Given the description of an element on the screen output the (x, y) to click on. 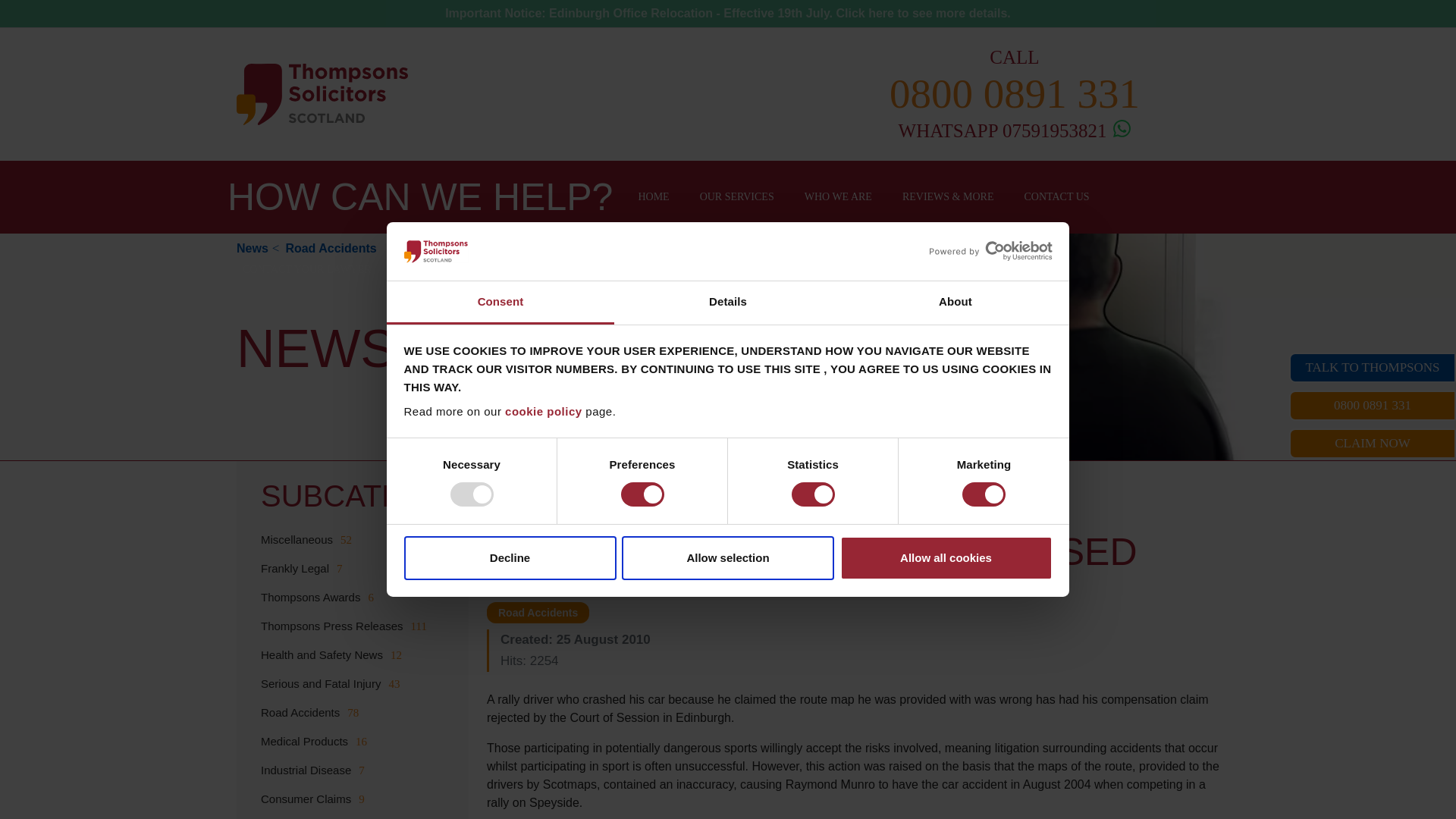
About (954, 302)
Details (727, 302)
cookie policy (543, 410)
Consent (500, 302)
